Given the description of an element on the screen output the (x, y) to click on. 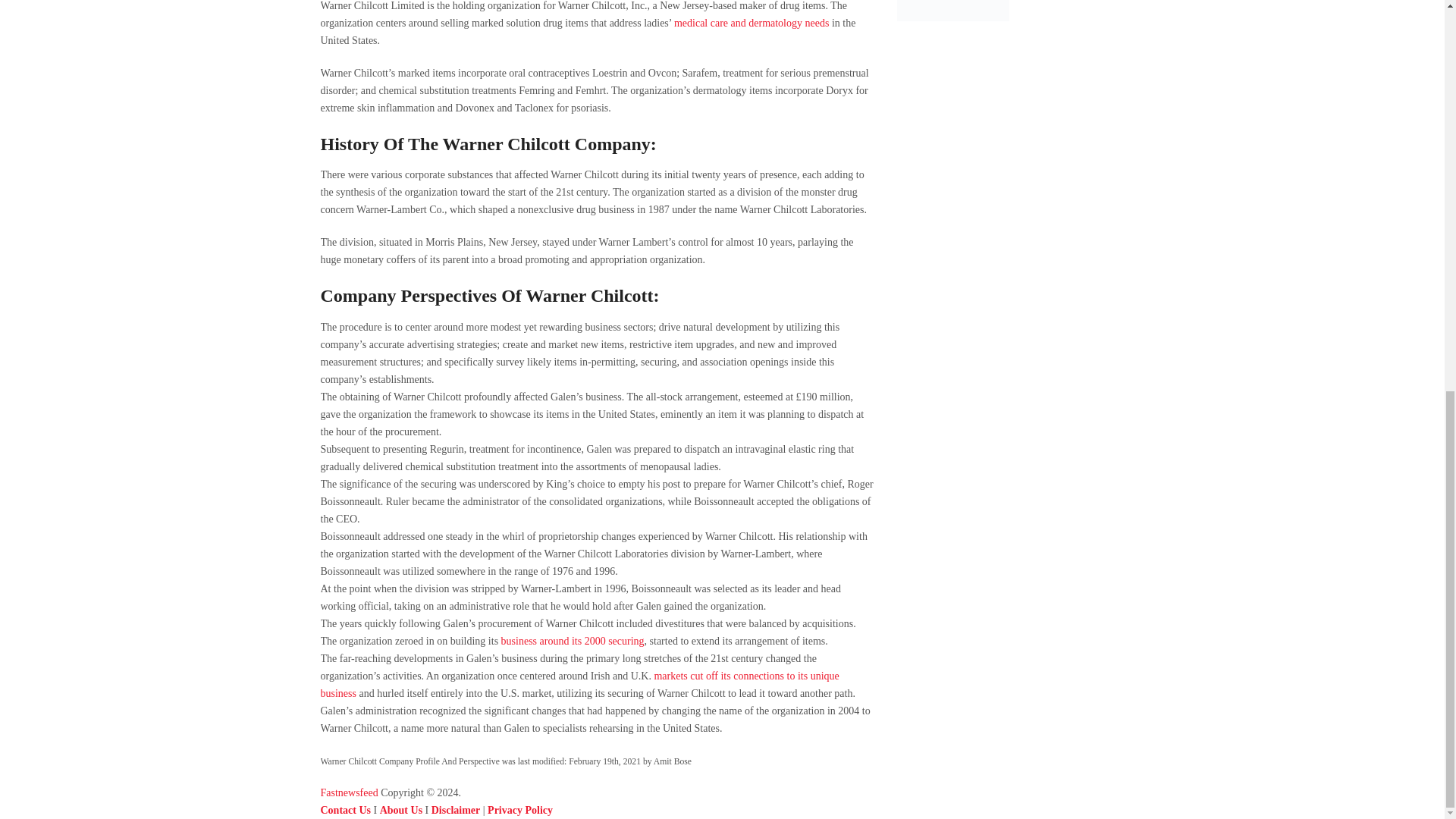
Fast News Feed (348, 792)
About Us (401, 809)
Contact Us (345, 809)
medical care and dermatology needs (751, 22)
Trendy Blouse Back Neck Designs For Every Occasion (952, 12)
markets cut off its connections to its unique business (579, 684)
Disclaimer (455, 809)
Fastnewsfeed (348, 792)
business around its 2000 securing (572, 641)
Privacy Policy (520, 809)
